Given the description of an element on the screen output the (x, y) to click on. 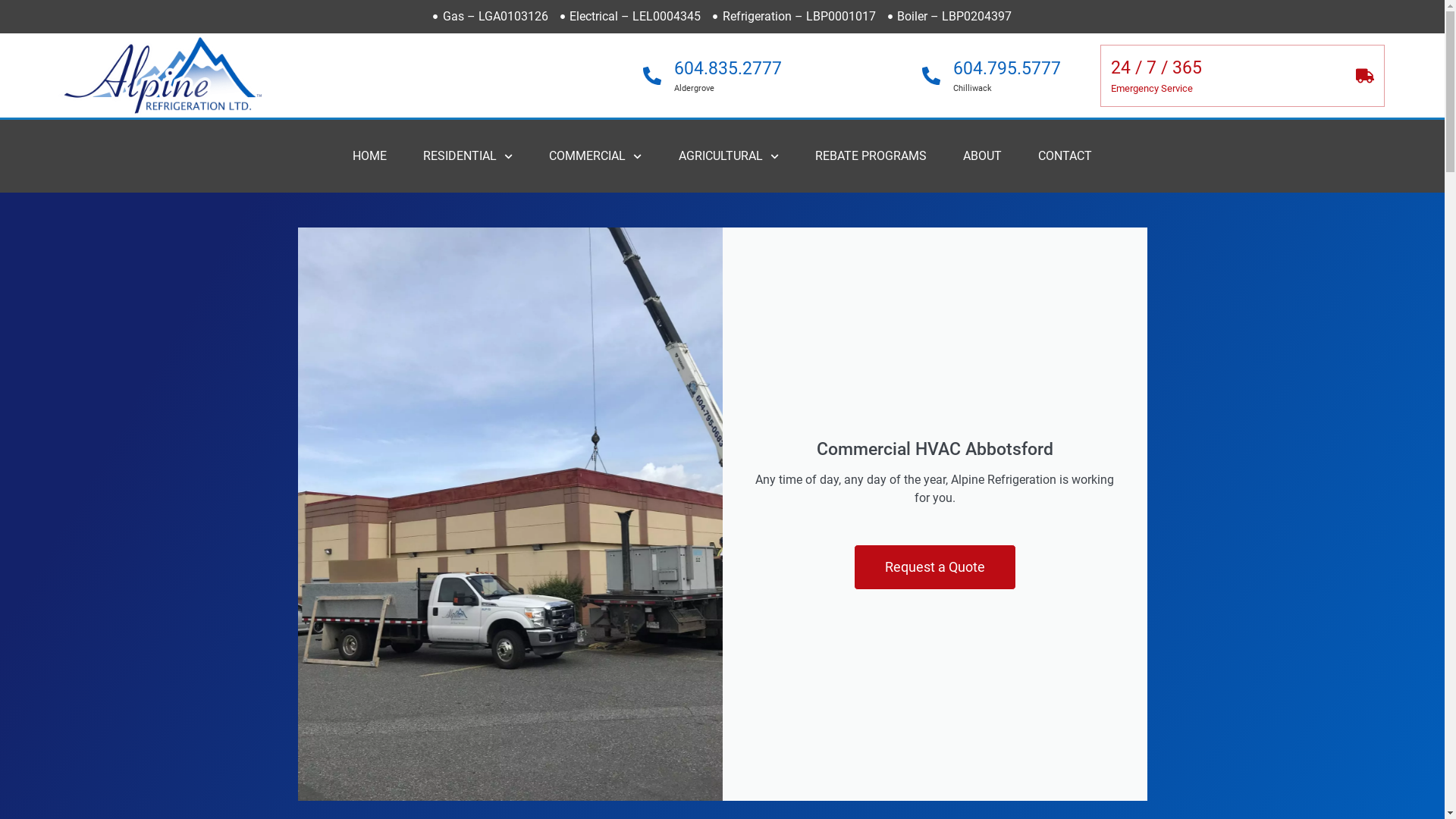
COMMERCIAL Element type: text (594, 155)
604.795.5777 Element type: text (1006, 68)
Request a Quote Element type: text (934, 566)
AGRICULTURAL Element type: text (728, 155)
CONTACT Element type: text (1064, 155)
24 / 7 / 365 Element type: text (1155, 67)
RESIDENTIAL Element type: text (467, 155)
HOME Element type: text (369, 155)
ABOUT Element type: text (981, 155)
604.835.2777 Element type: text (727, 68)
REBATE PROGRAMS Element type: text (870, 155)
